Given the description of an element on the screen output the (x, y) to click on. 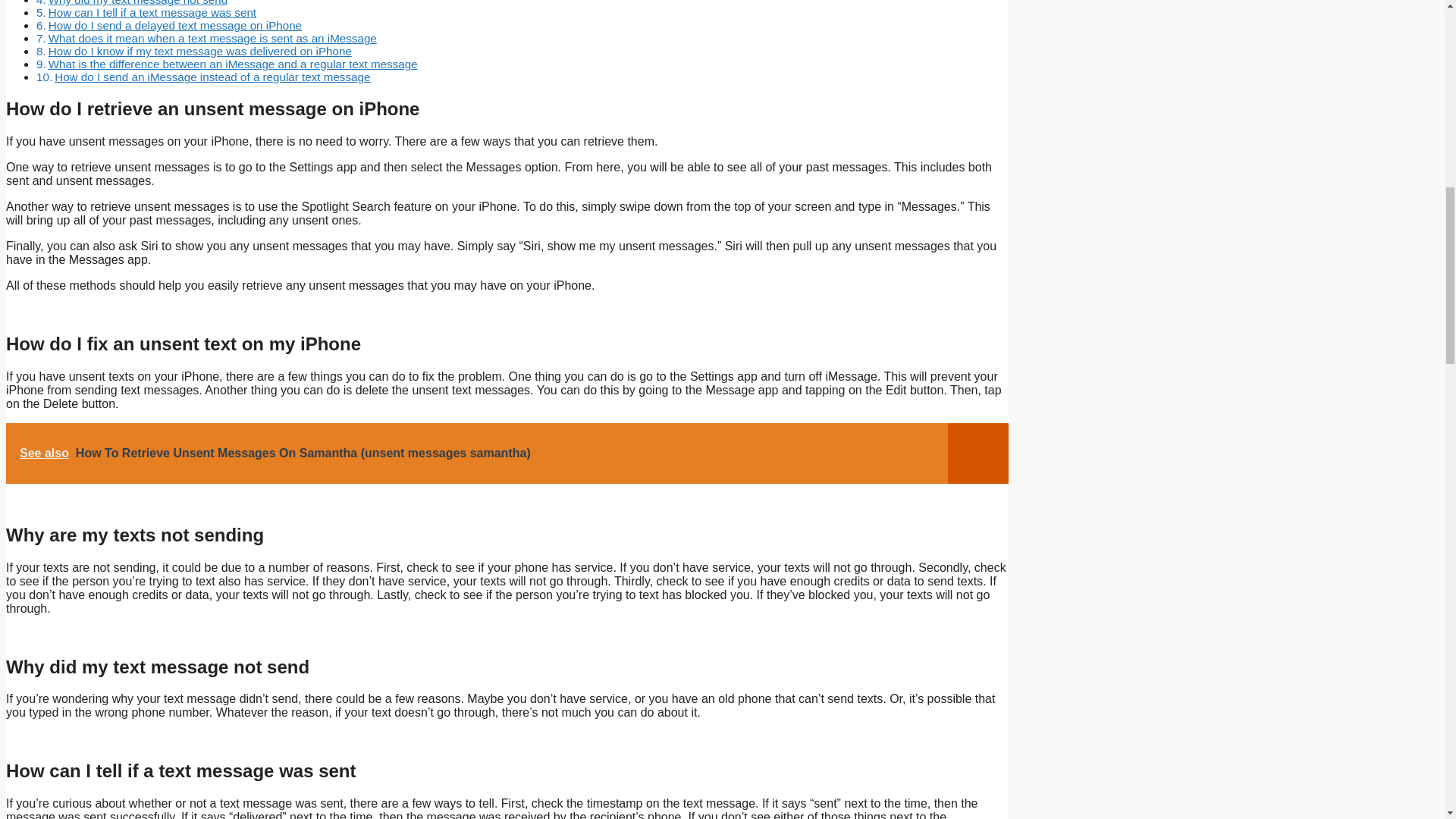
How can I tell if a text message was sent (152, 11)
How do I know if my text message was delivered on iPhone (200, 51)
What does it mean when a text message is sent as an iMessage (212, 38)
How do I send an iMessage instead of a regular text message (212, 76)
Why did my text message not send (137, 2)
Why did my text message not send (137, 2)
How do I send an iMessage instead of a regular text message (212, 76)
How can I tell if a text message was sent (152, 11)
